Given the description of an element on the screen output the (x, y) to click on. 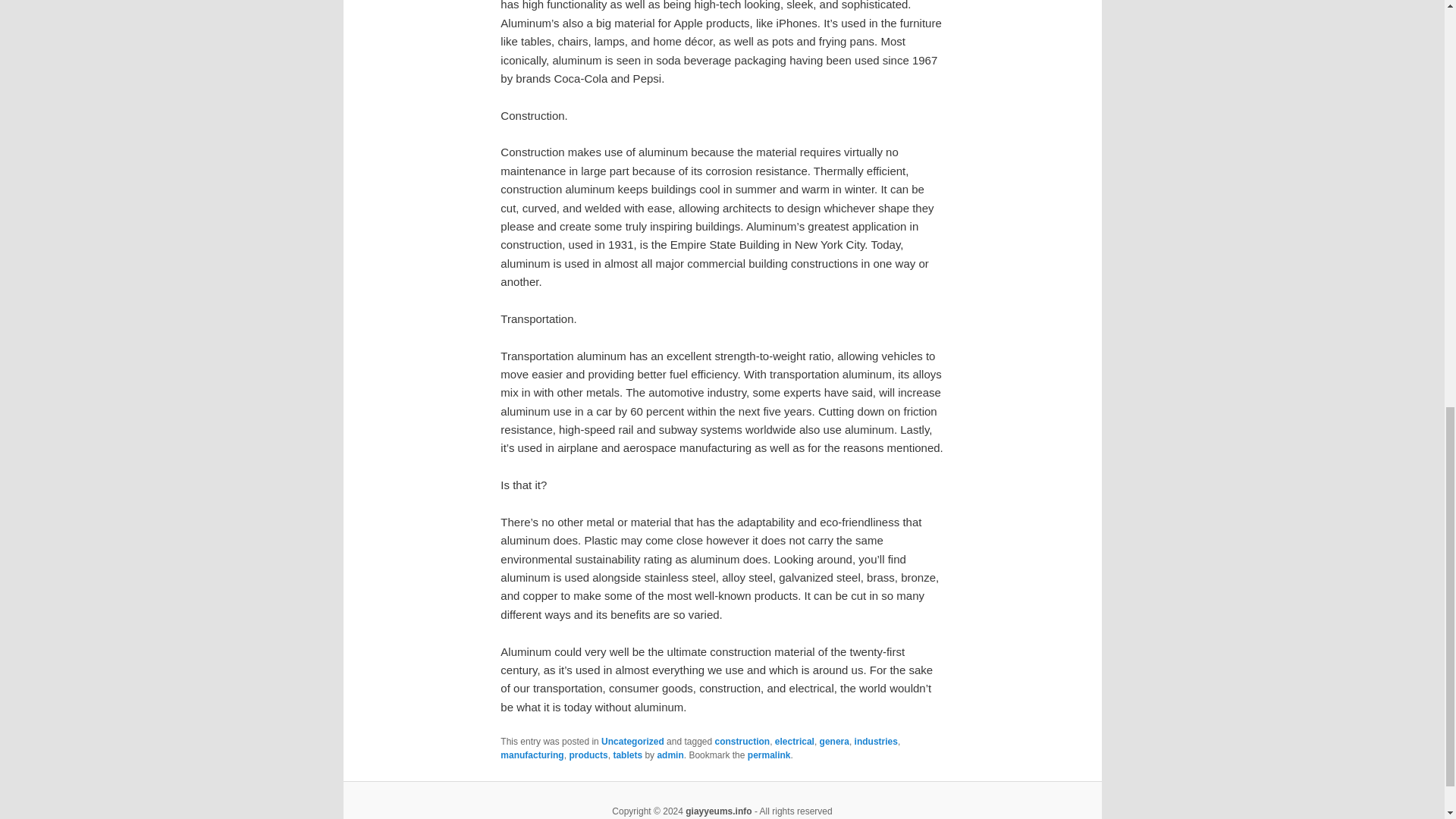
industries (876, 741)
giayyeums.info (718, 810)
View all posts in Uncategorized (632, 741)
permalink (769, 755)
giayyeums.info (718, 810)
genera (833, 741)
construction (742, 741)
admin (669, 755)
tablets (627, 755)
products (588, 755)
Uncategorized (632, 741)
electrical (793, 741)
manufacturing (531, 755)
